Given the description of an element on the screen output the (x, y) to click on. 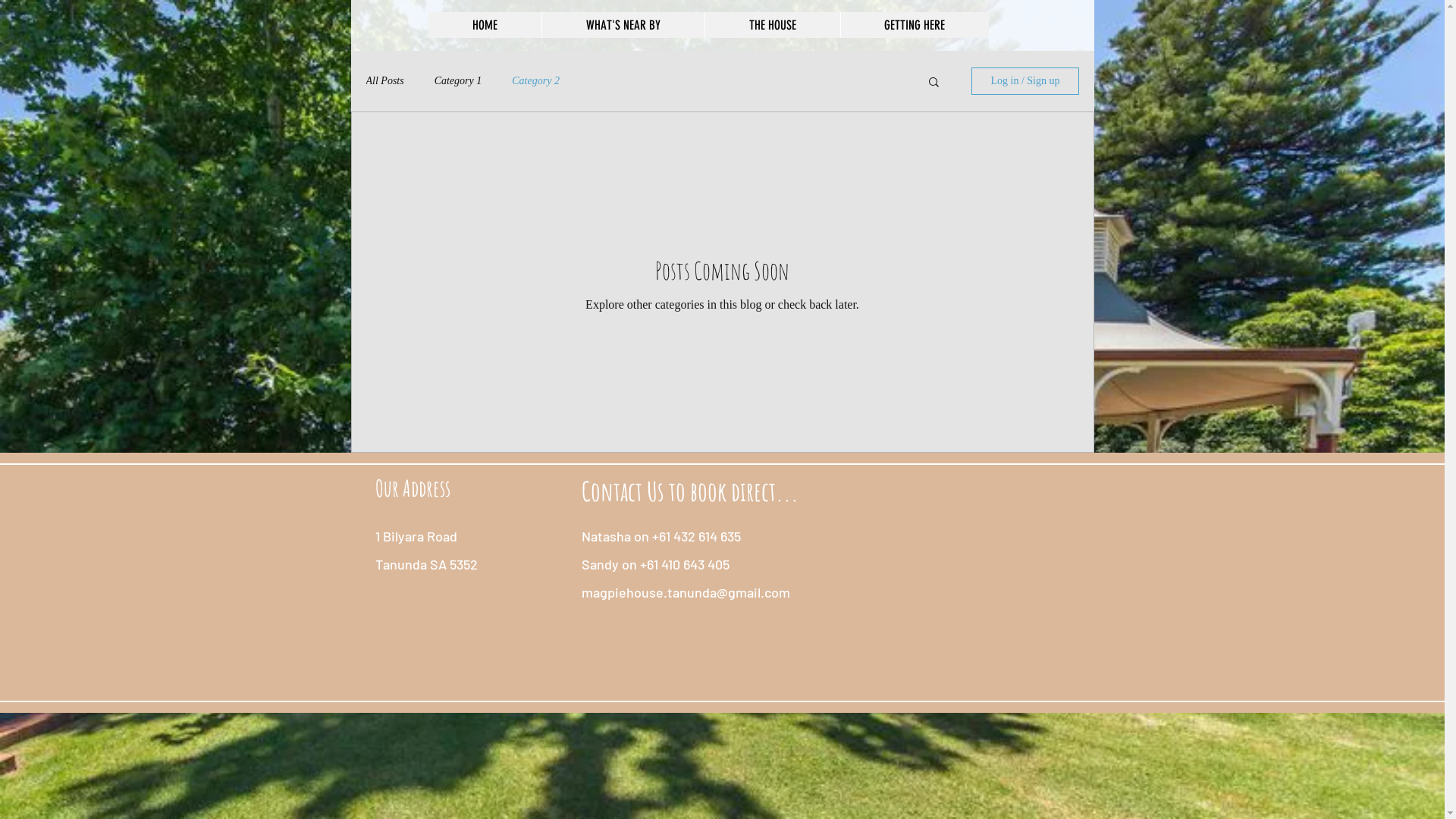
magpiehouse.tanunda@gmail.com Element type: text (684, 591)
Category 1 Element type: text (458, 81)
WHAT'S NEAR BY Element type: text (622, 24)
GETTING HERE Element type: text (914, 24)
Category 2 Element type: text (535, 81)
Log in / Sign up Element type: text (1024, 80)
THE HOUSE Element type: text (771, 24)
HOME Element type: text (483, 24)
All Posts Element type: text (384, 81)
